Given the description of an element on the screen output the (x, y) to click on. 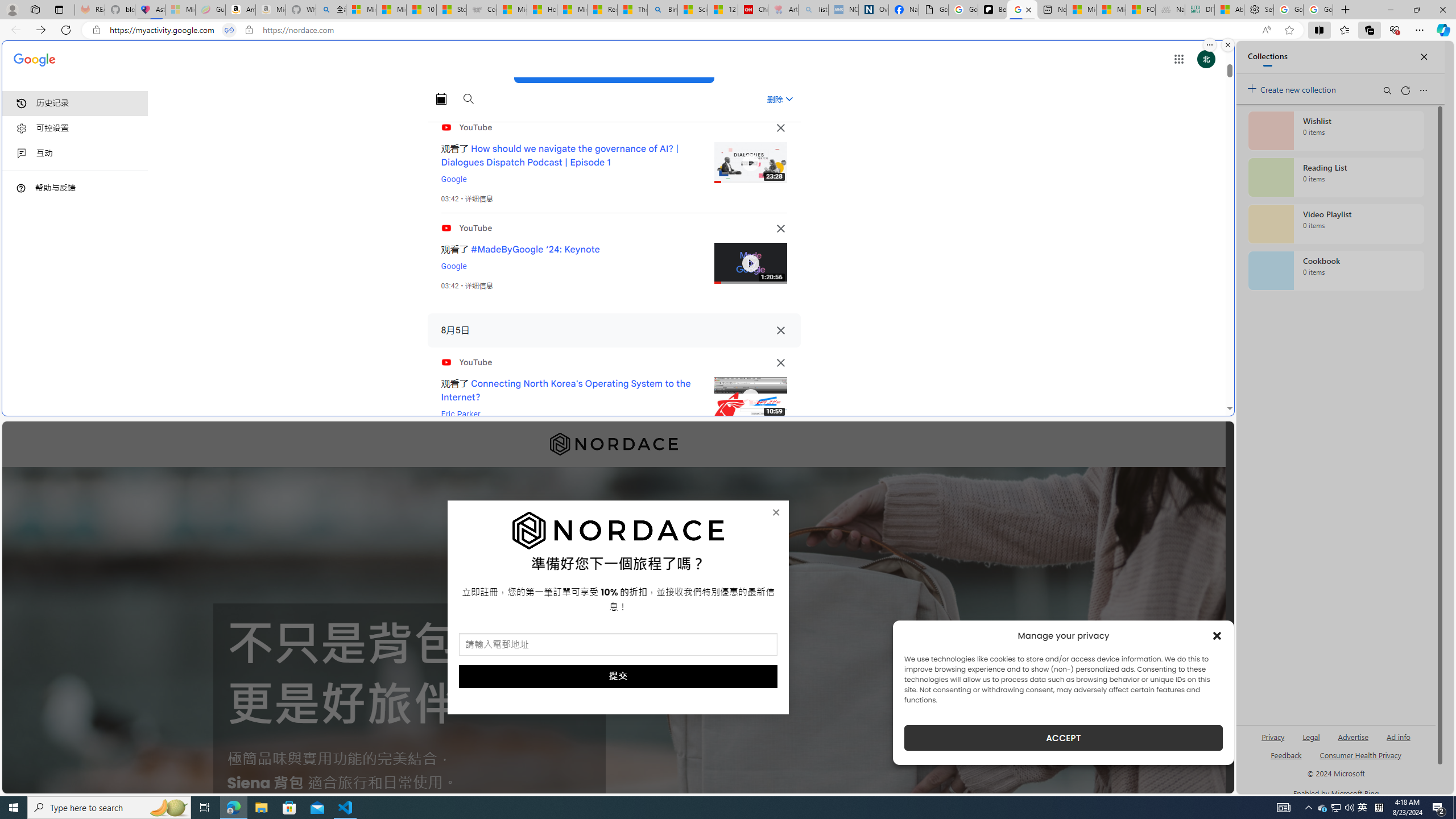
Class: TjcpUd NMm5M (780, 362)
AutomationID: genId96 (1285, 759)
Class: DI7Mnf NMm5M (780, 330)
Close split screen. (1227, 45)
